Given the description of an element on the screen output the (x, y) to click on. 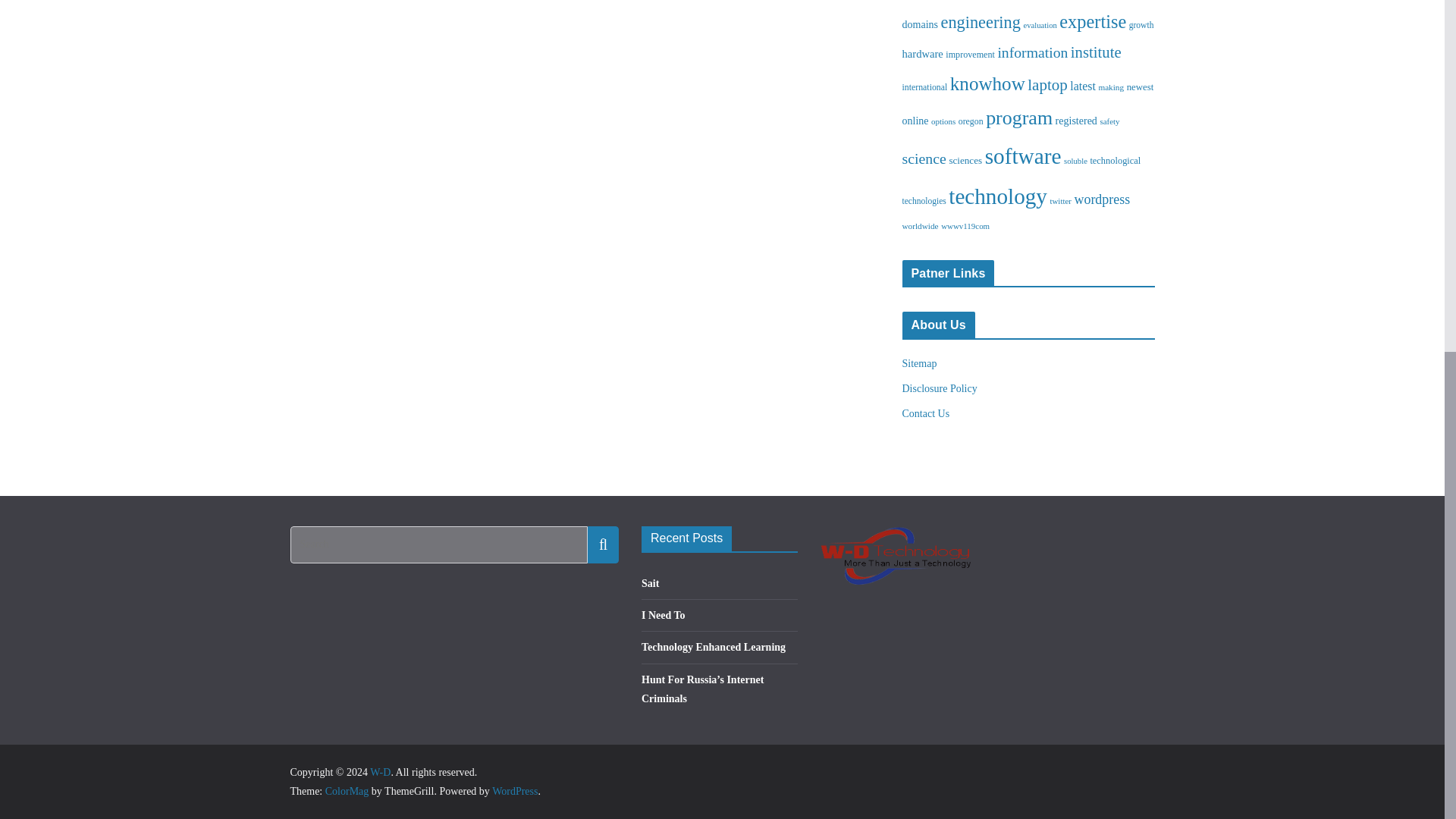
domains (920, 24)
evaluation (1040, 25)
expertise (1092, 21)
W-D (379, 772)
WordPress (514, 790)
ColorMag (346, 790)
hardware (922, 53)
engineering (980, 22)
growth (1141, 24)
